Given the description of an element on the screen output the (x, y) to click on. 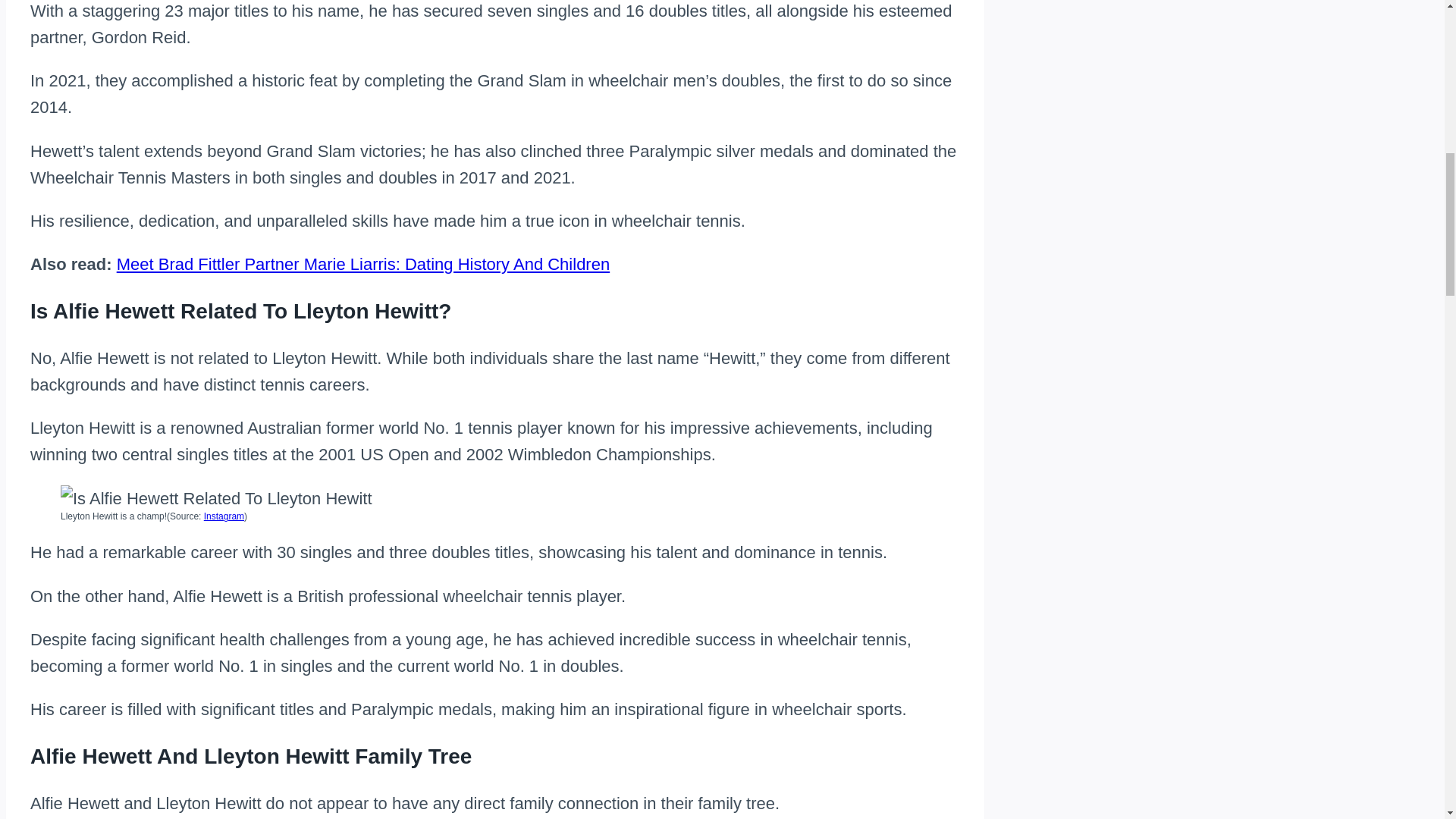
Instagram (223, 516)
